Given the description of an element on the screen output the (x, y) to click on. 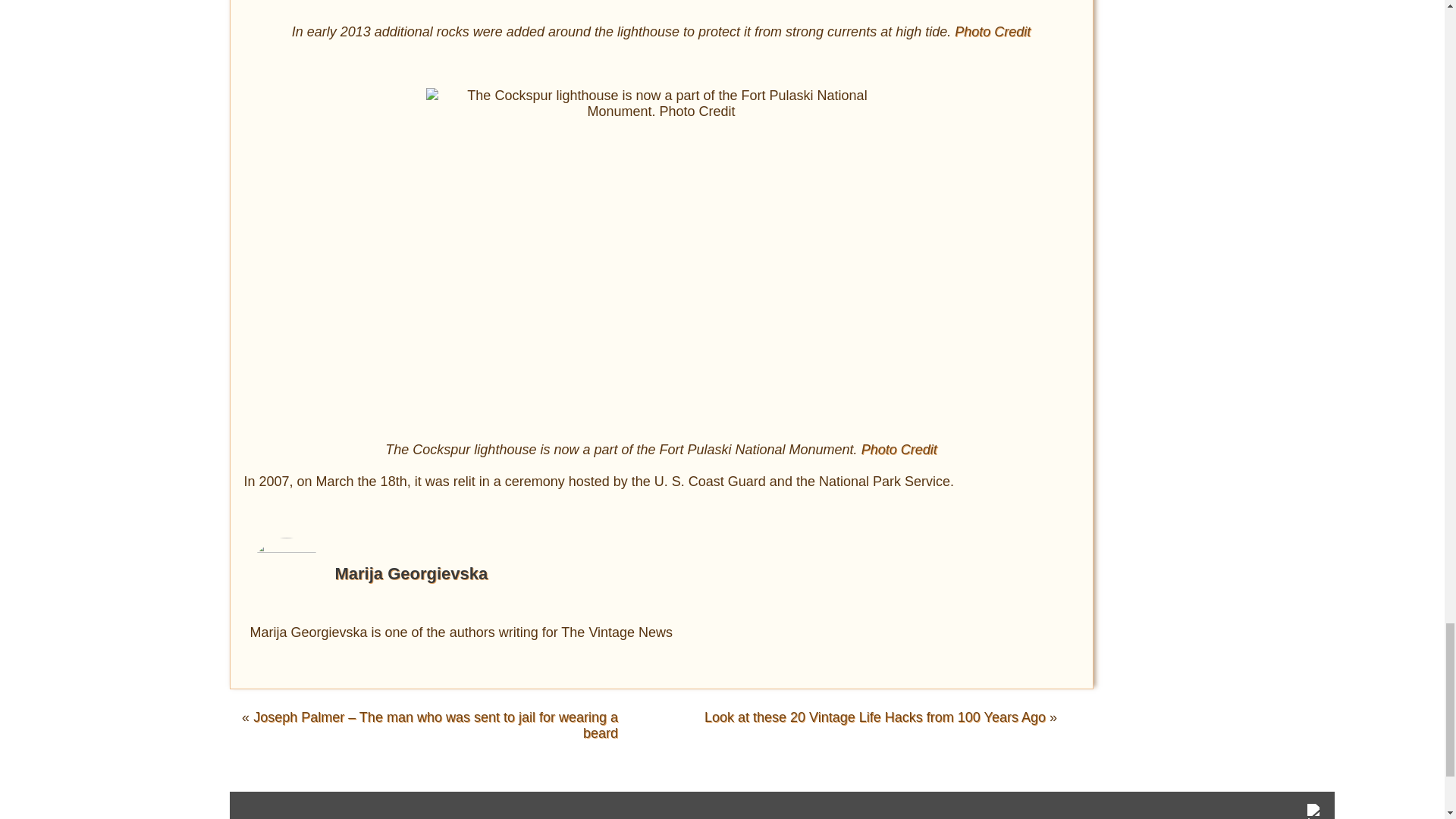
I Love WWII Planes (1314, 811)
